Given the description of an element on the screen output the (x, y) to click on. 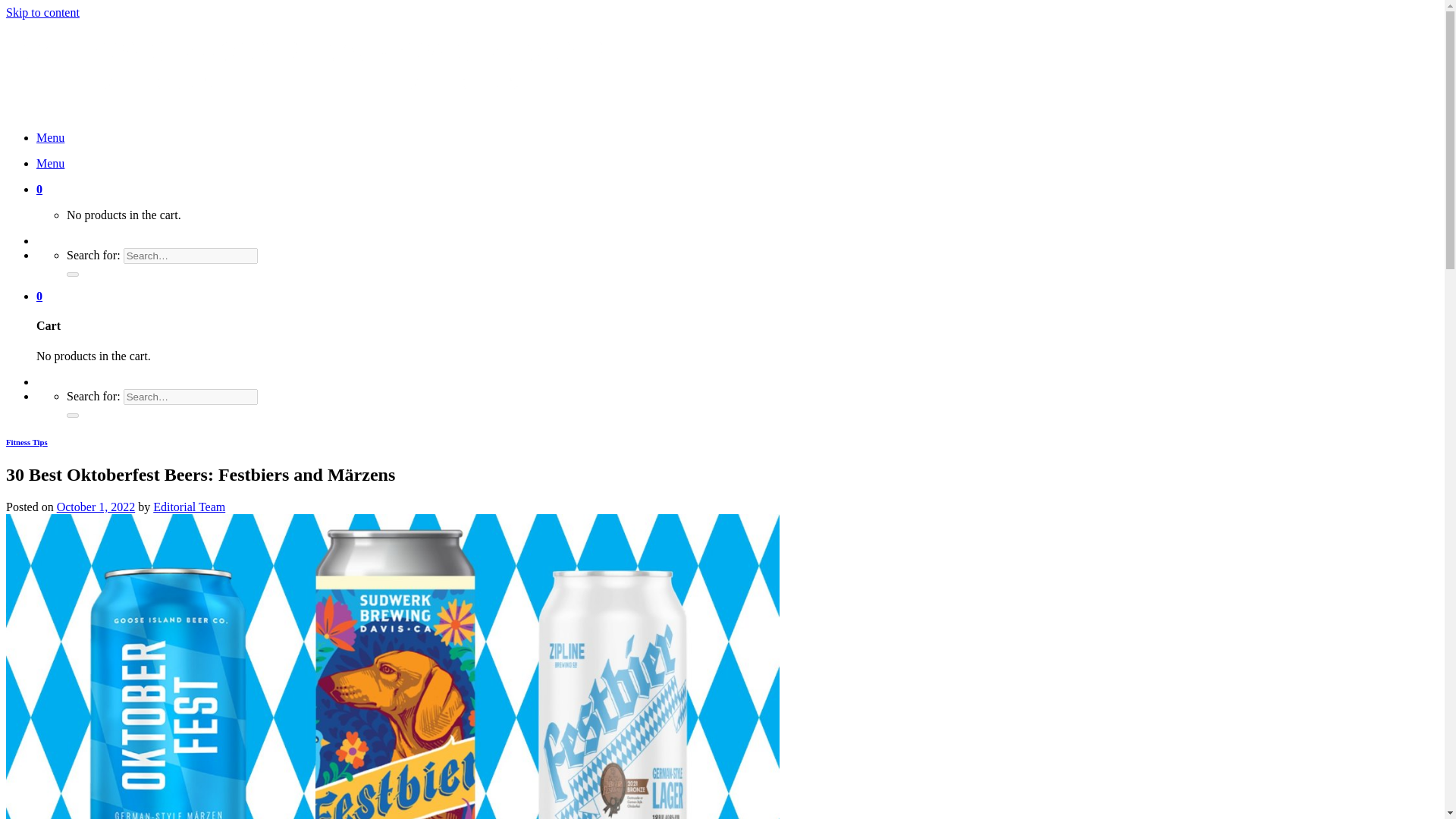
Search (72, 415)
Cart (39, 188)
Skip to content (42, 11)
0 (39, 295)
Editorial Team (188, 506)
Fitness Tips (26, 440)
0 (39, 188)
Menu (50, 137)
October 1, 2022 (95, 506)
Search (72, 273)
Menu (50, 163)
Cart (39, 295)
